Given the description of an element on the screen output the (x, y) to click on. 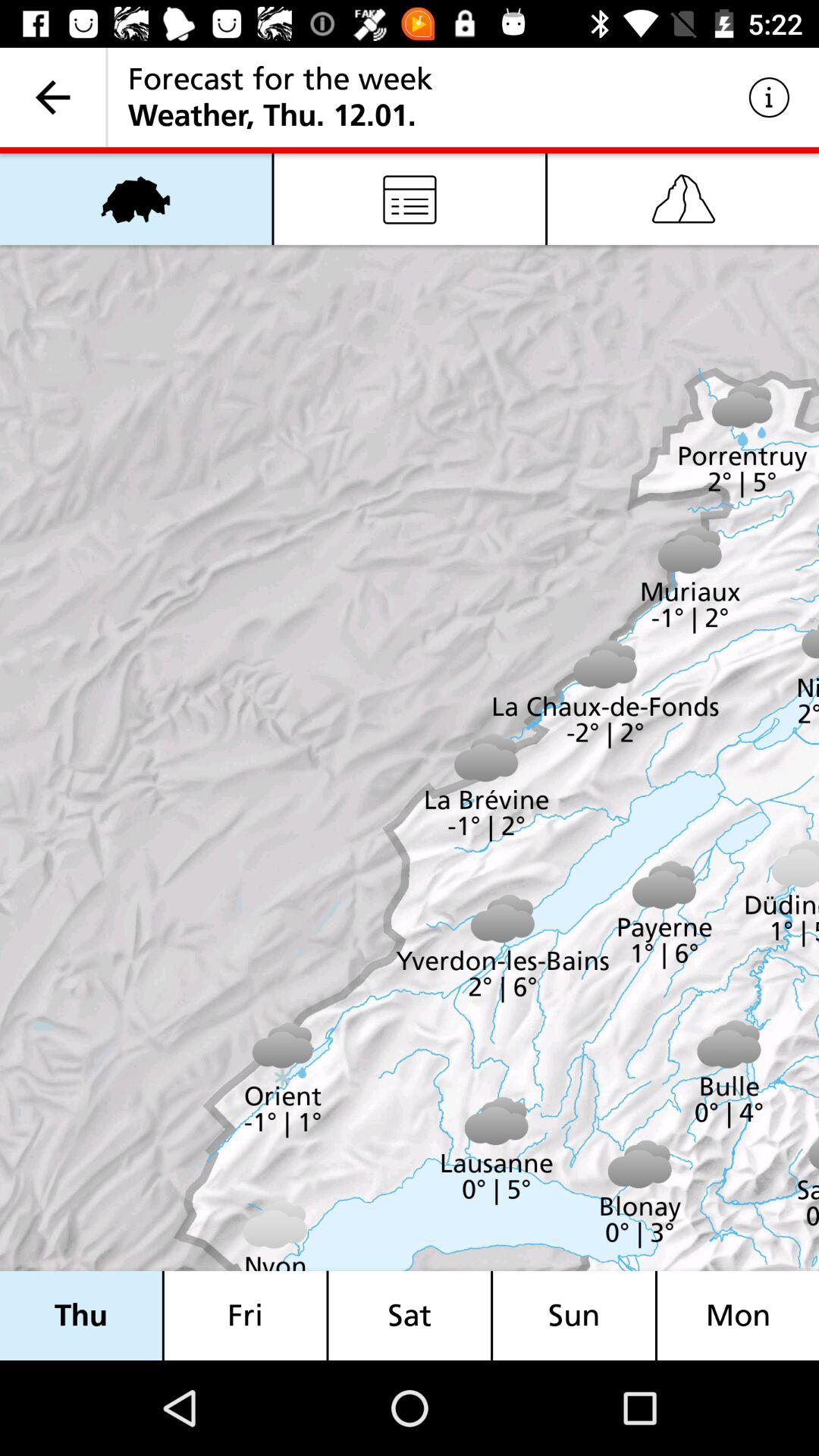
click icon to the right of the sun (738, 1315)
